Given the description of an element on the screen output the (x, y) to click on. 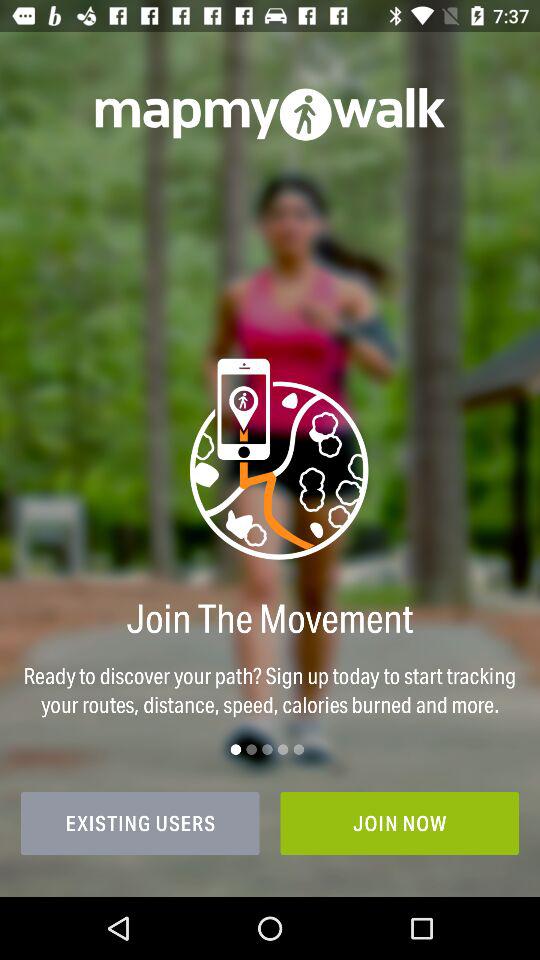
choose join now icon (399, 823)
